Given the description of an element on the screen output the (x, y) to click on. 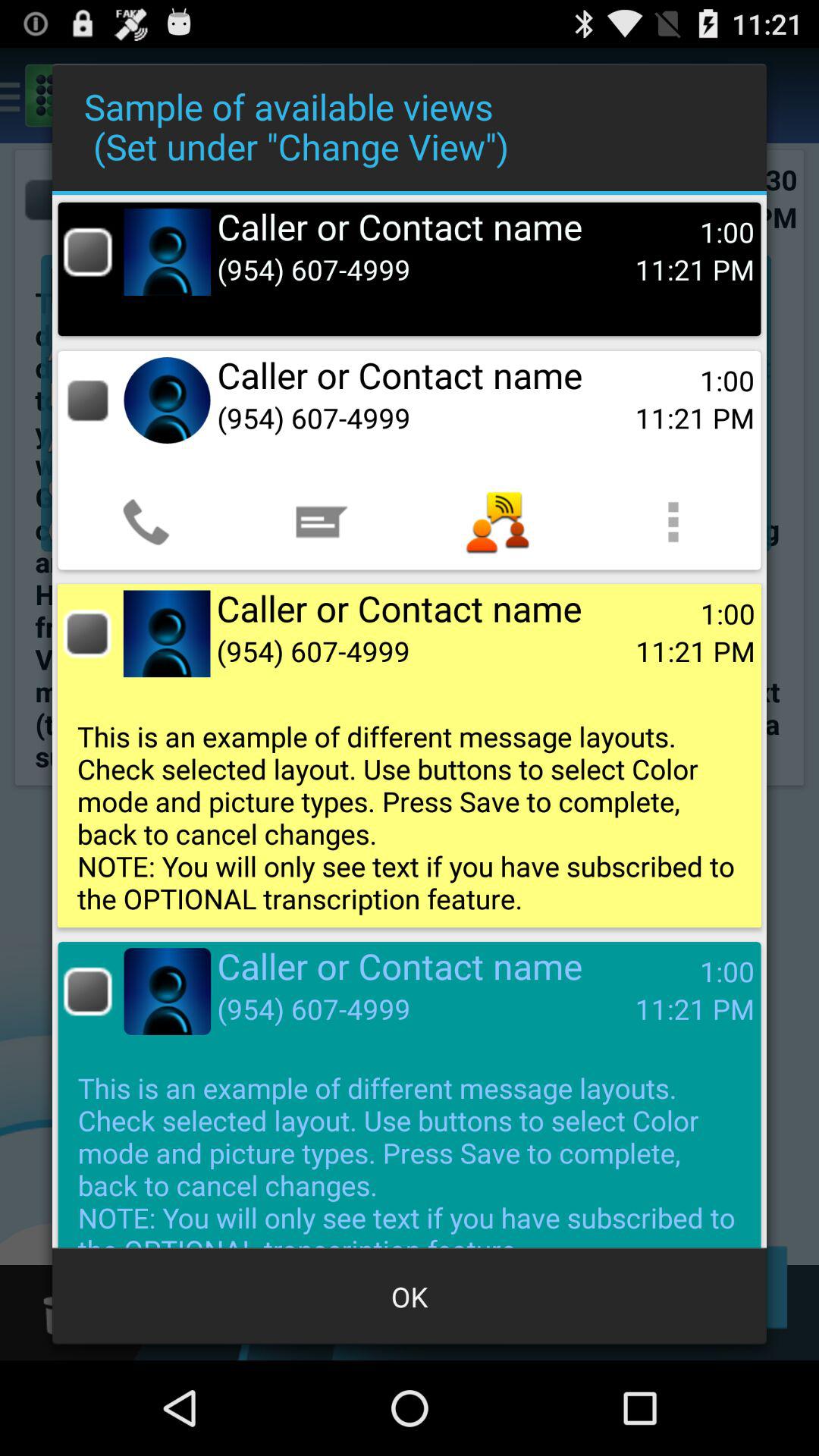
select view (87, 400)
